Given the description of an element on the screen output the (x, y) to click on. 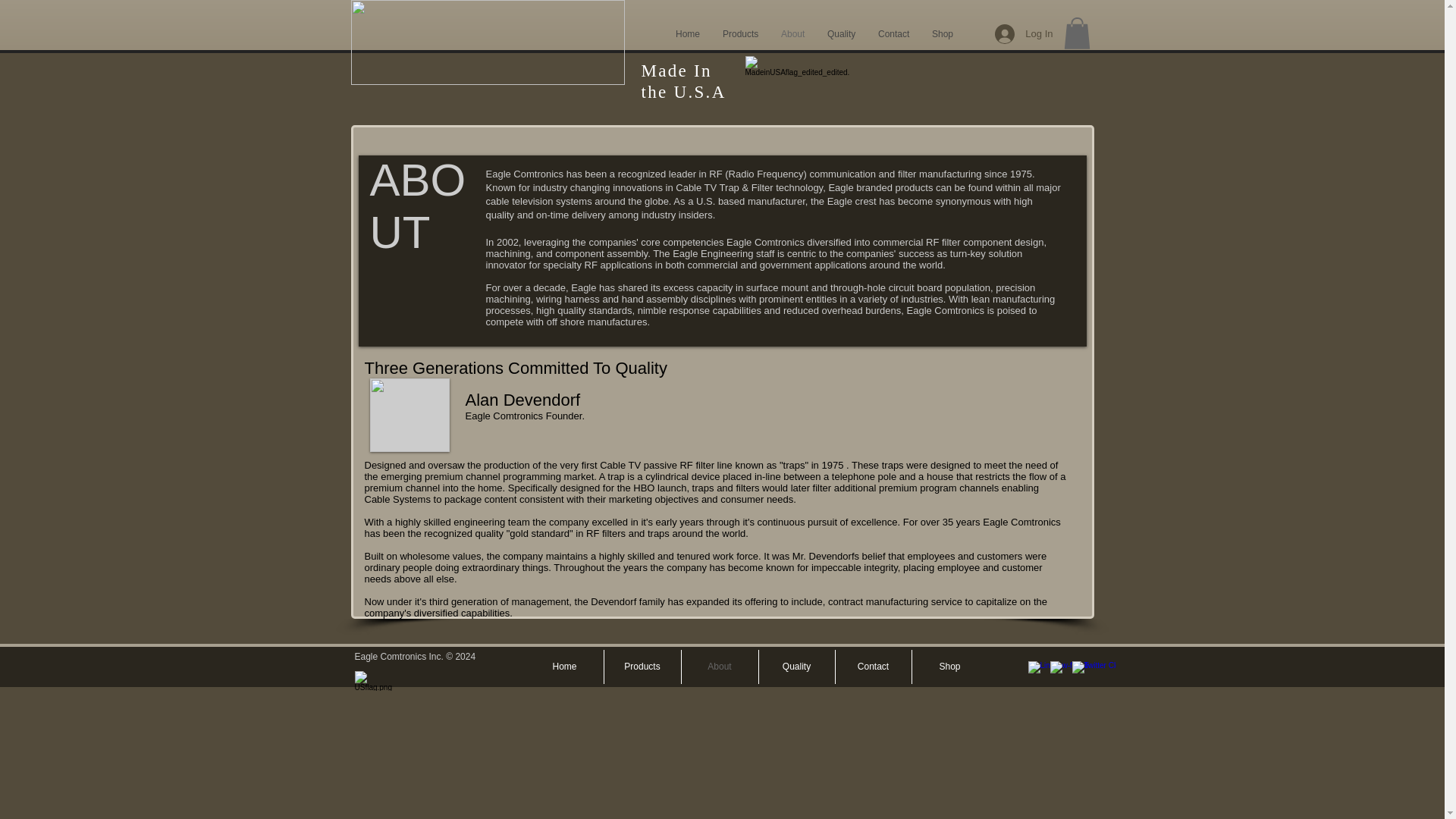
Home (687, 34)
About (792, 34)
Products (740, 34)
Contact (873, 666)
Products (641, 666)
Home (564, 666)
Contact (893, 34)
Shop (941, 34)
About (719, 666)
Large Eagle Logo.png (487, 42)
Quality (840, 34)
Log In (1023, 33)
Shop (949, 666)
Quality (796, 666)
